Given the description of an element on the screen output the (x, y) to click on. 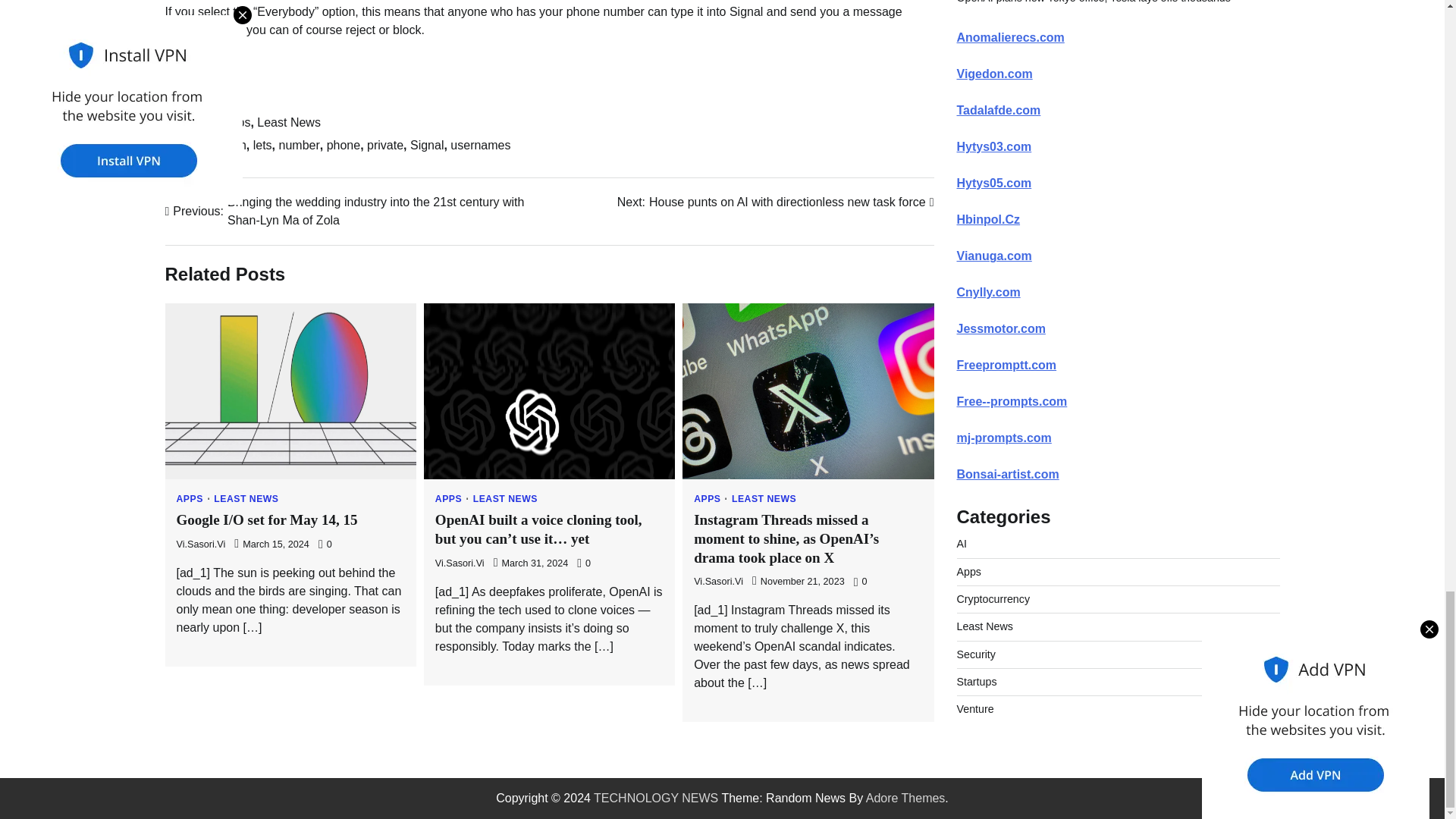
APPS (192, 498)
launch (228, 144)
Least News (288, 122)
number (775, 202)
Signal (299, 144)
Source link (427, 144)
usernames (195, 96)
phone (480, 144)
Apps (343, 144)
lets (236, 122)
LEAST NEWS (262, 144)
private (246, 498)
